Given the description of an element on the screen output the (x, y) to click on. 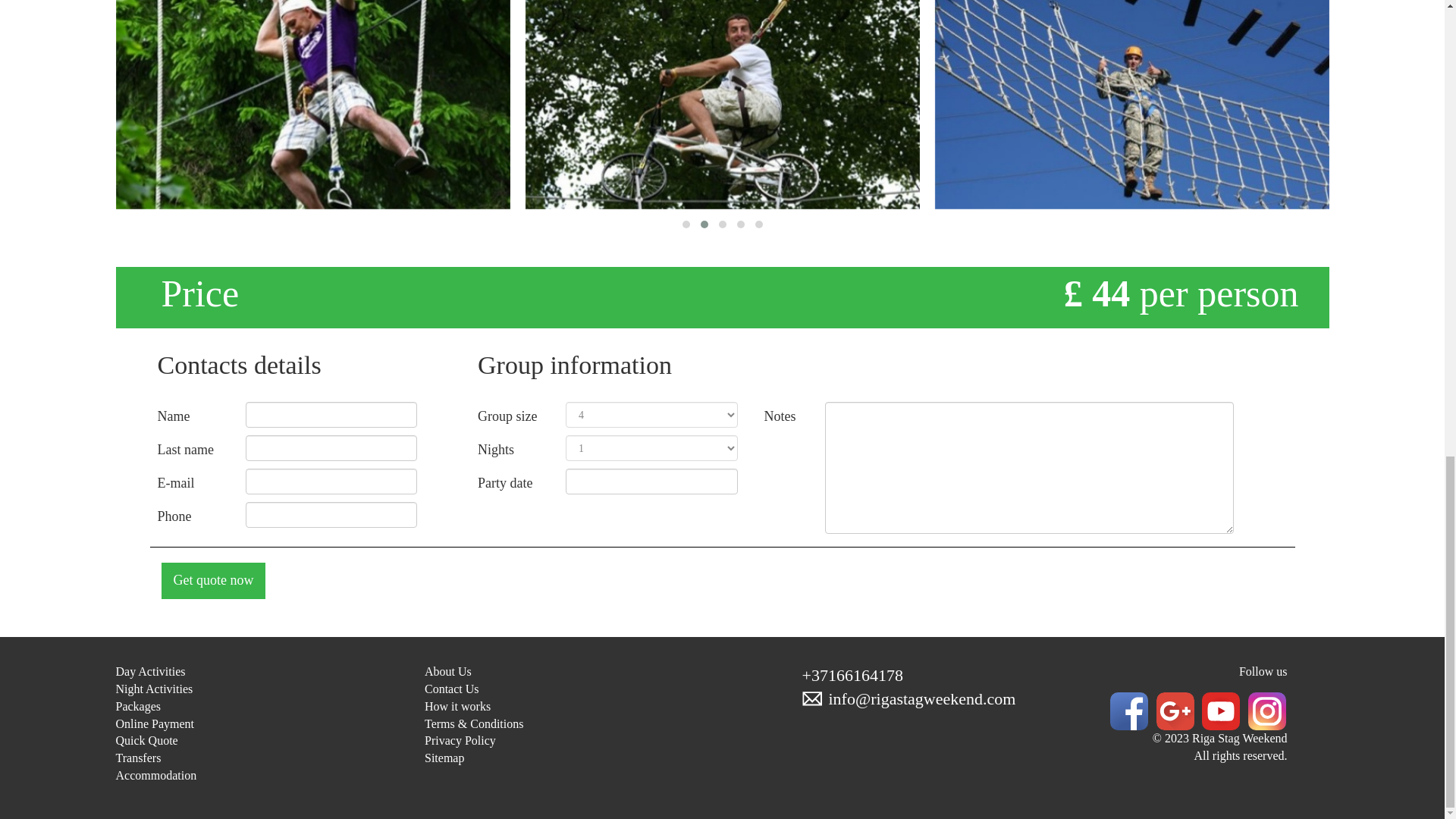
Transfers (137, 757)
About Us (448, 671)
Quick Quote (146, 739)
Quick Quote (146, 739)
Packages (137, 706)
Day Activities (149, 671)
Transfers (137, 757)
Online Payment (154, 723)
Night Activities (153, 688)
Day Activities (149, 671)
Online Payment (154, 723)
Night Activities (153, 688)
Get quote now (212, 580)
Packages (137, 706)
Accommodation (155, 775)
